Given the description of an element on the screen output the (x, y) to click on. 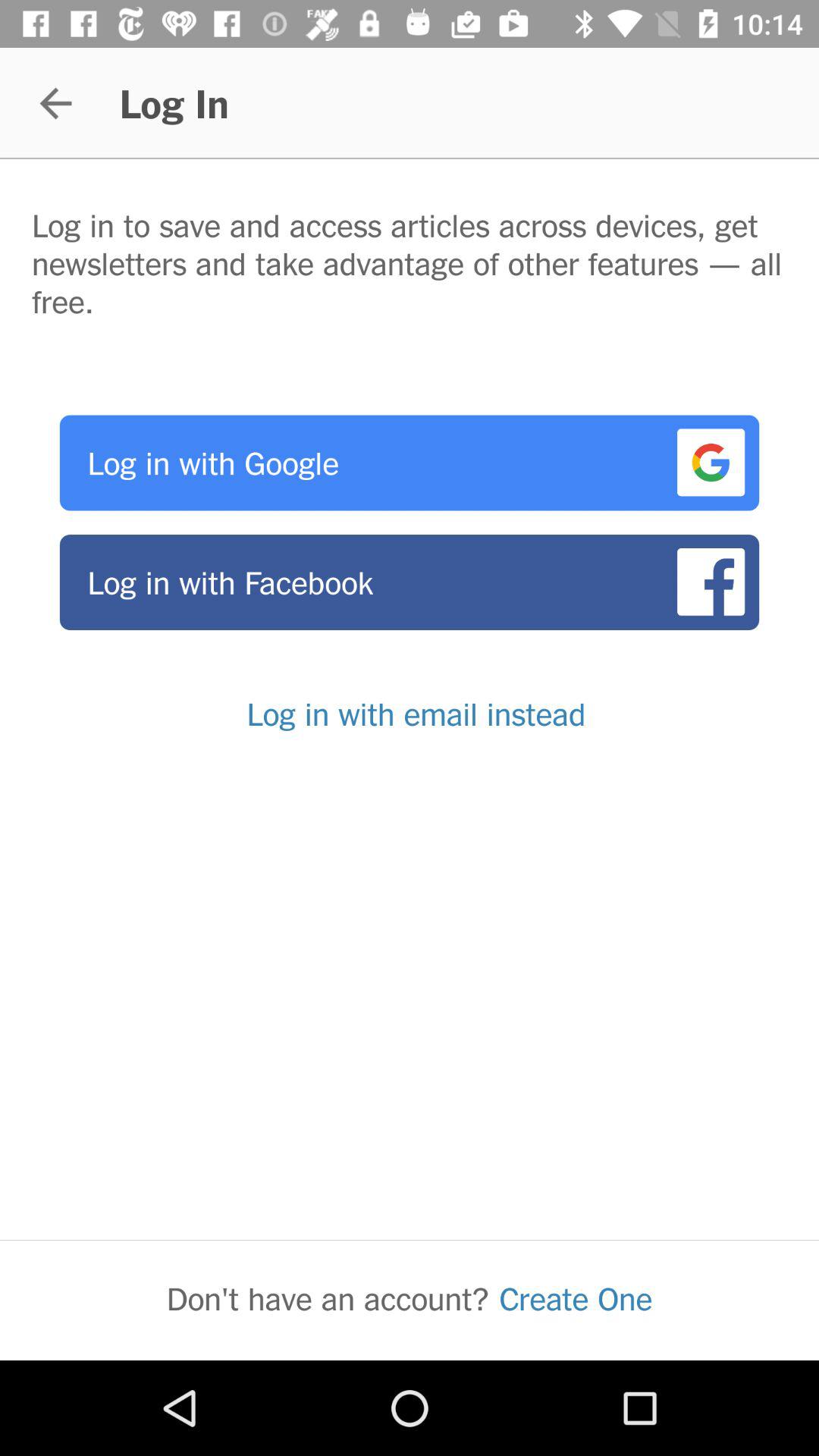
choose create one at the bottom right corner (575, 1298)
